Given the description of an element on the screen output the (x, y) to click on. 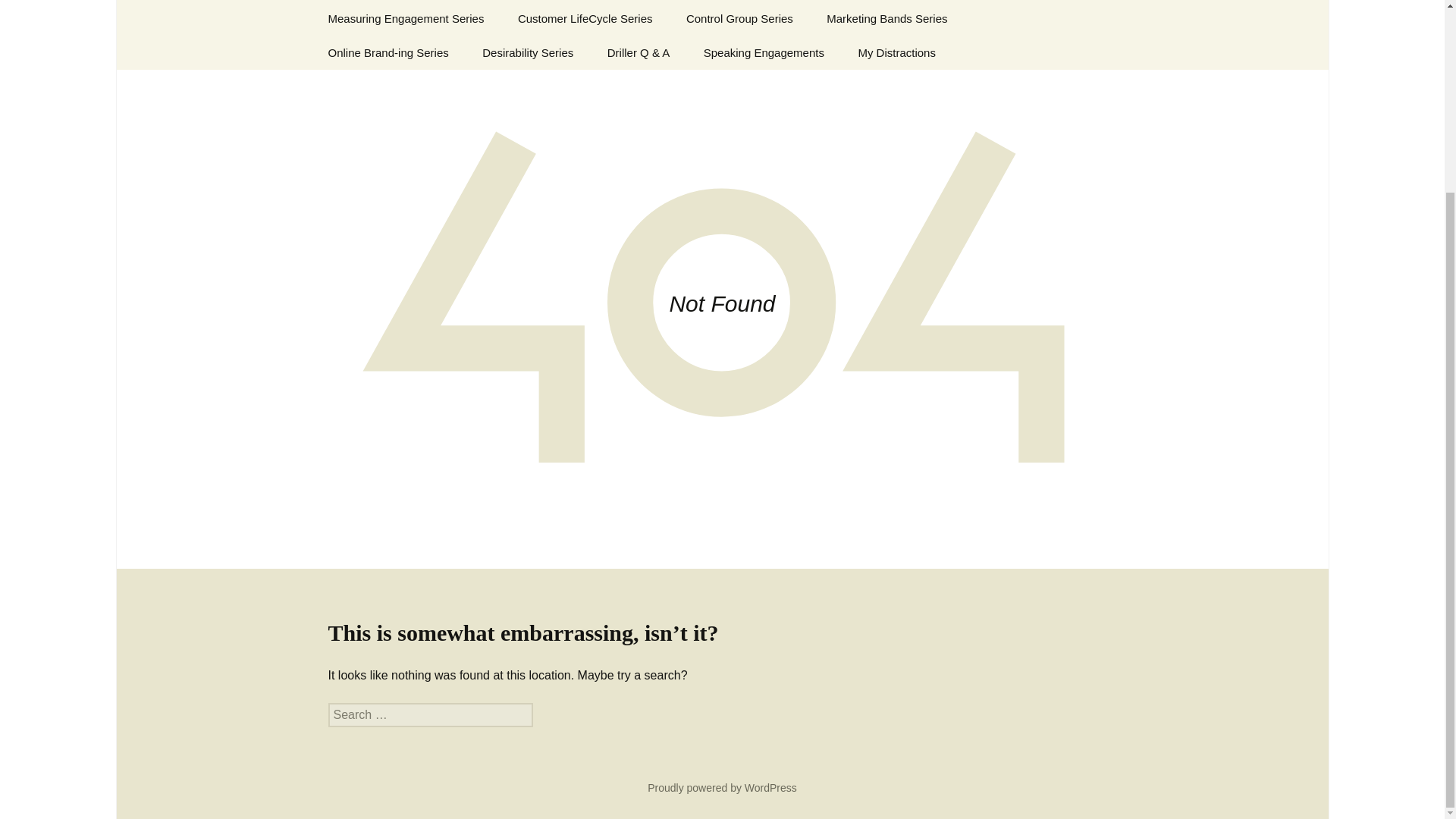
Desirability Series (527, 52)
My Distractions (896, 52)
Control Group Series (739, 18)
Customer LifeCycle Series (585, 18)
Six Sigma Marketing (846, 0)
Marketing Bands Series (886, 18)
Measuring Engagement Series (406, 18)
Fear of Analytics (369, 0)
Proudly powered by WordPress (721, 787)
Speaking Engagements (764, 52)
Online Brand-ing Series (388, 52)
